Given the description of an element on the screen output the (x, y) to click on. 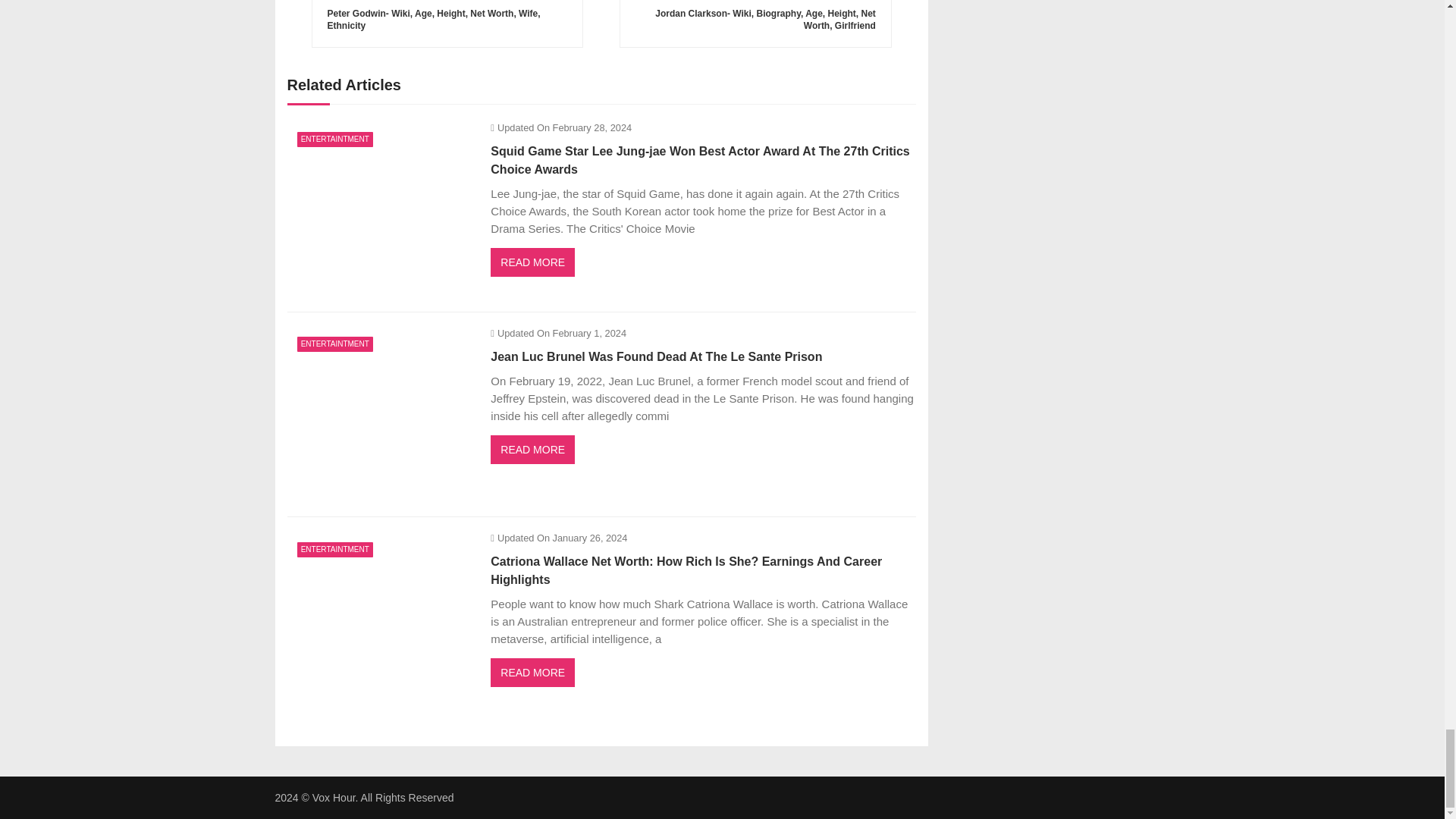
Jean Luc Brunel Was Found Dead At The Le Sante Prison (381, 414)
ENTERTAINTMENT (334, 139)
